Given the description of an element on the screen output the (x, y) to click on. 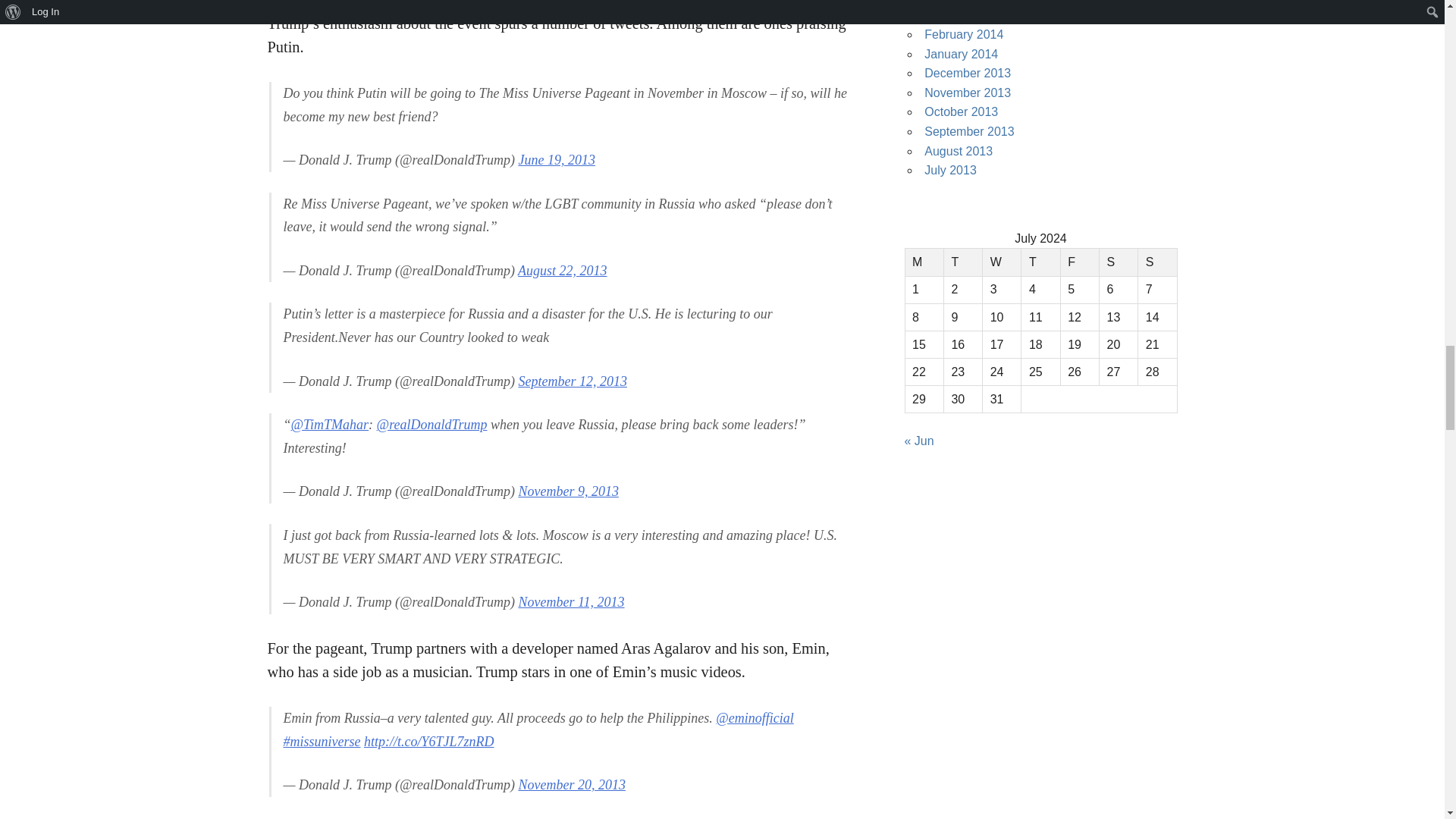
Thursday (1040, 262)
Saturday (1118, 262)
November 20, 2013 (571, 784)
November 11, 2013 (571, 601)
August 22, 2013 (562, 270)
June 19, 2013 (556, 159)
Sunday (1157, 262)
November 9, 2013 (567, 491)
Friday (1079, 262)
Tuesday (962, 262)
September 12, 2013 (572, 381)
Monday (923, 262)
Wednesday (1002, 262)
